Given the description of an element on the screen output the (x, y) to click on. 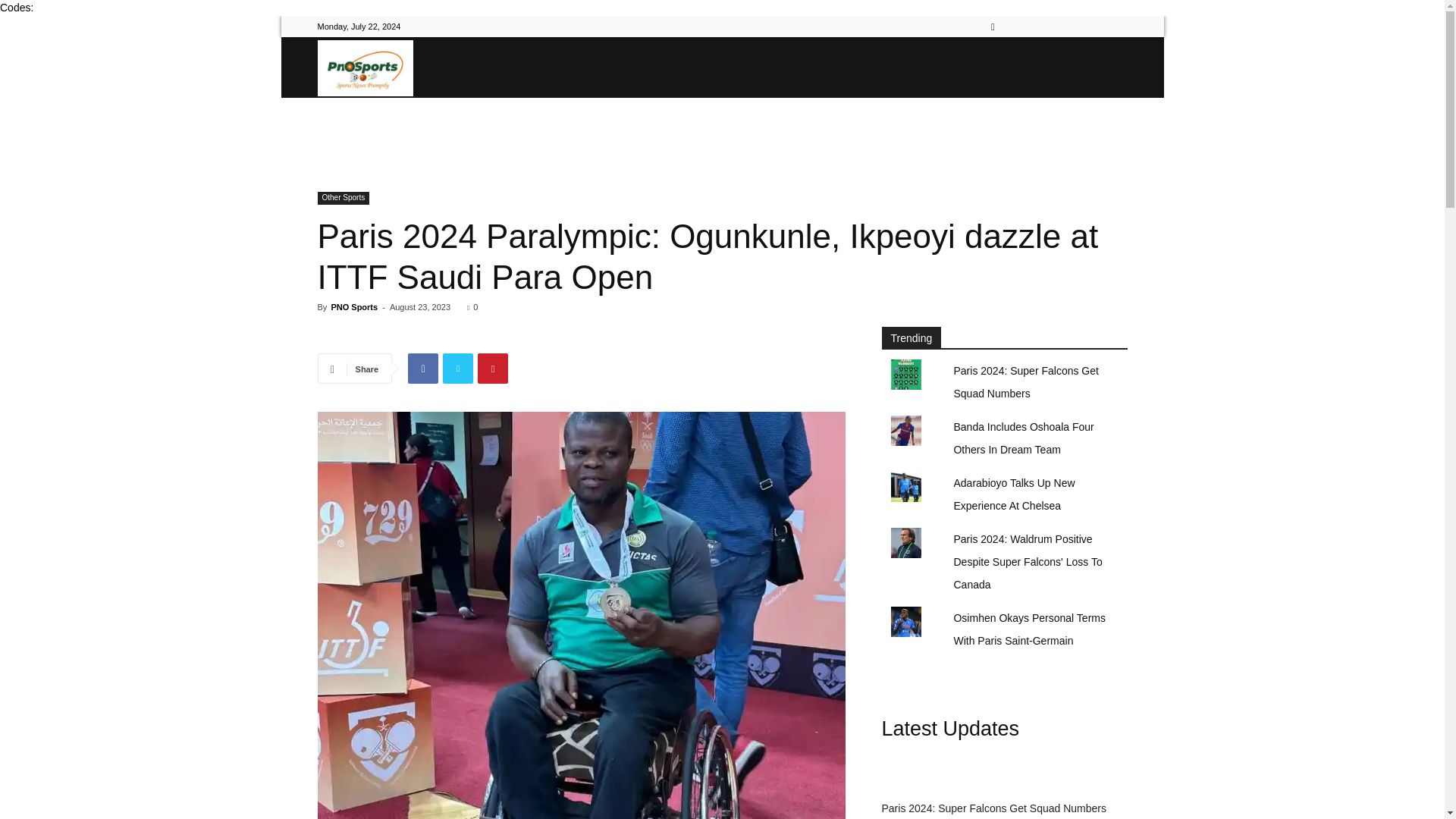
OTHER SPORTS (873, 127)
SPORTSTAINMENT (985, 127)
NIGERIAN FOOTBALL (624, 127)
NATIONAL TEAMS (499, 127)
Youtube (1114, 25)
PNO Sports (364, 67)
PNO Sports (353, 307)
Vimeo (1065, 25)
Twitter (1040, 25)
VKontakte (1090, 25)
FOREIGN FOOTBALL (755, 127)
Facebook (1015, 25)
Other Sports (343, 197)
Search (1085, 79)
